Given the description of an element on the screen output the (x, y) to click on. 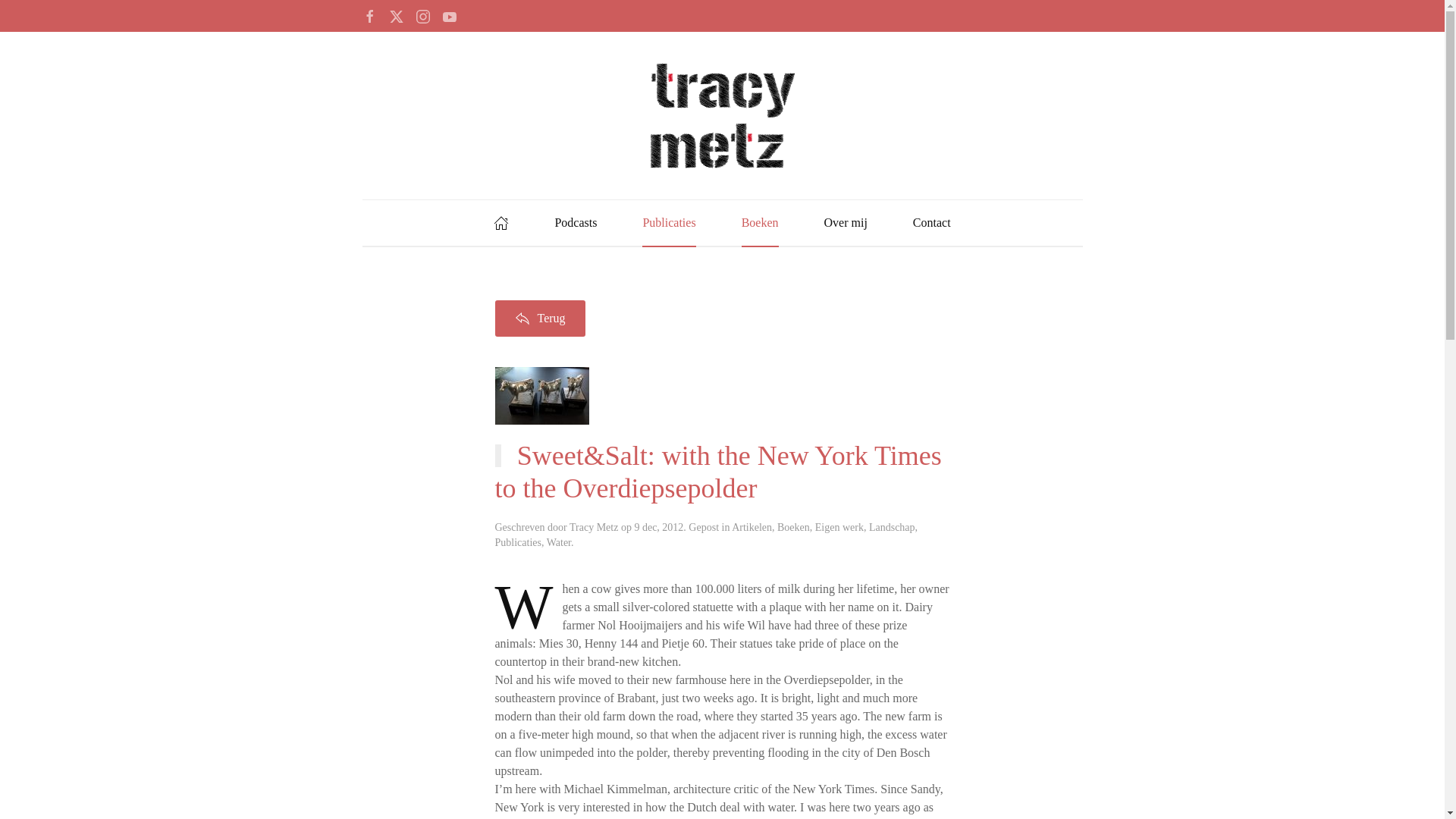
Podcasts (575, 222)
Publicaties (517, 542)
Artikelen (751, 527)
Eigen werk (839, 527)
Landschap (892, 527)
Terug (540, 318)
Tracy Metz (593, 527)
Publicaties (668, 222)
Boeken (793, 527)
Water (558, 542)
